Given the description of an element on the screen output the (x, y) to click on. 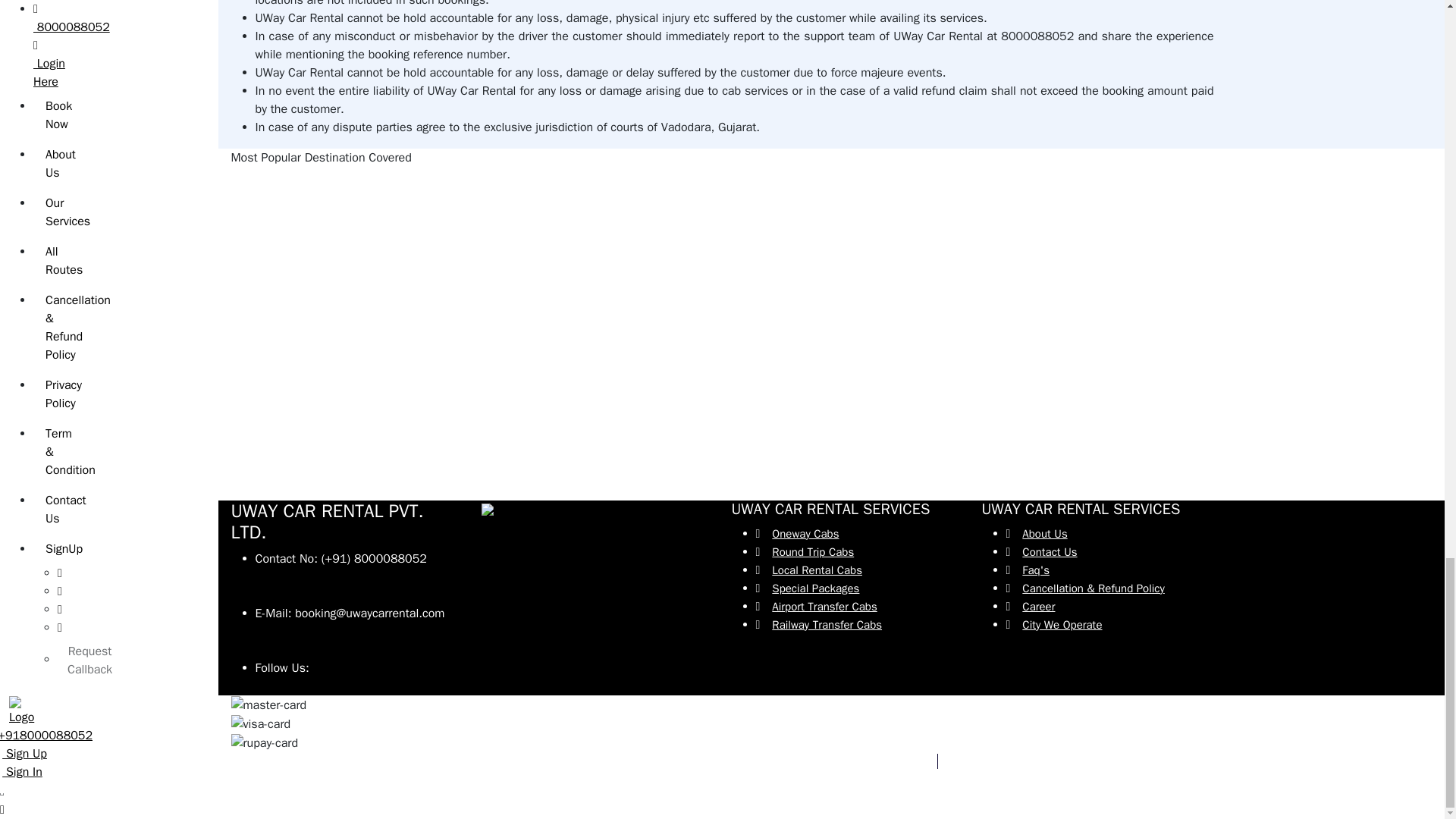
Outstation Cabs in Mumbai (554, 181)
Taxi Service in Hyderabad (299, 454)
Corporate Cabs in Mumbai (803, 181)
Taxi Service in Ahmedabad (302, 236)
Taxi Service in Bangalore (298, 345)
Taxi Service in Delhi (285, 290)
Outstation Cabs in Hyderabad (561, 454)
Outstation Cabs in Pune (546, 400)
Taxi Service in Pune (285, 400)
Corporate Cabs in Ahmedabad (813, 236)
